Given the description of an element on the screen output the (x, y) to click on. 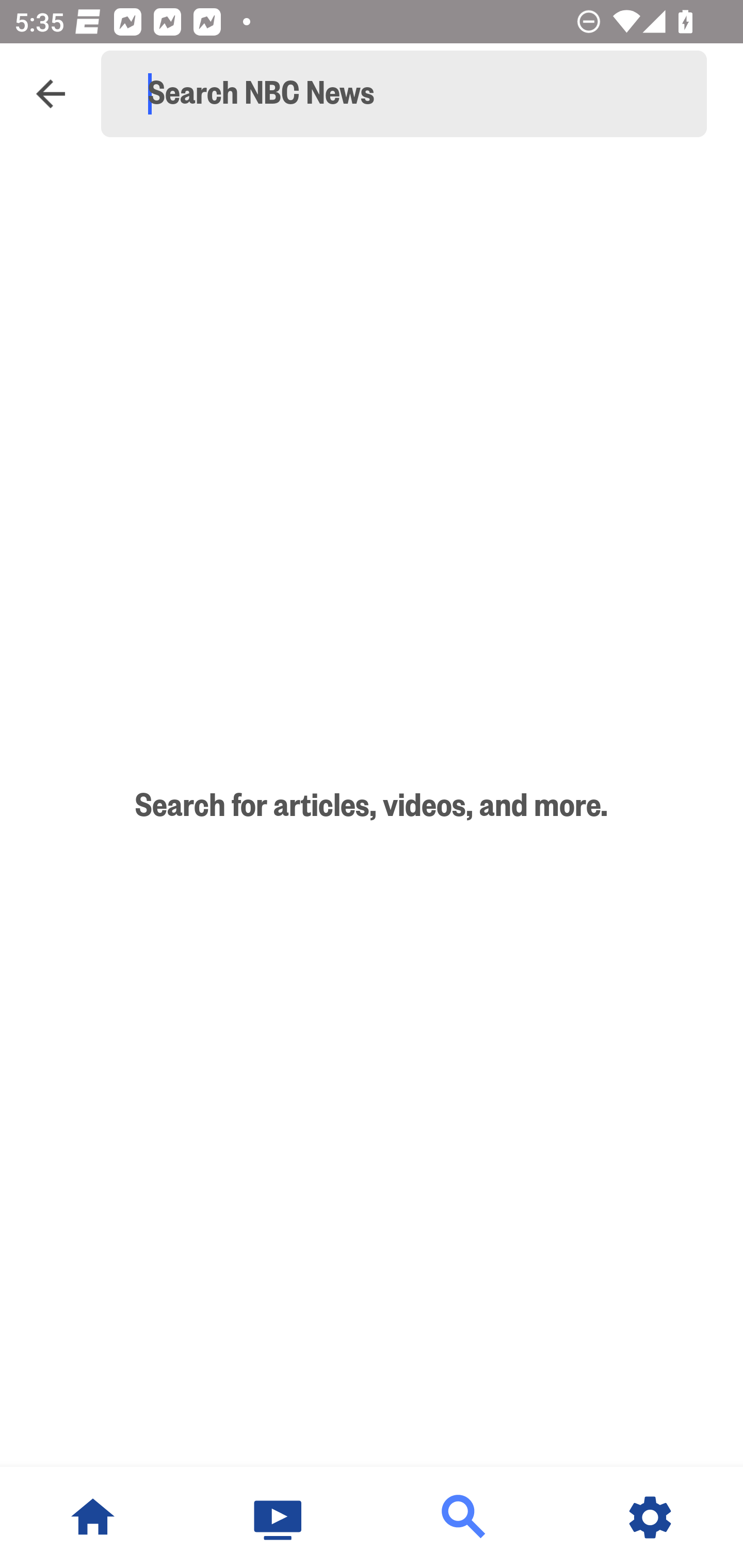
Navigate up (50, 93)
Search NBC News (412, 94)
NBC News Home (92, 1517)
Watch (278, 1517)
Settings (650, 1517)
